Given the description of an element on the screen output the (x, y) to click on. 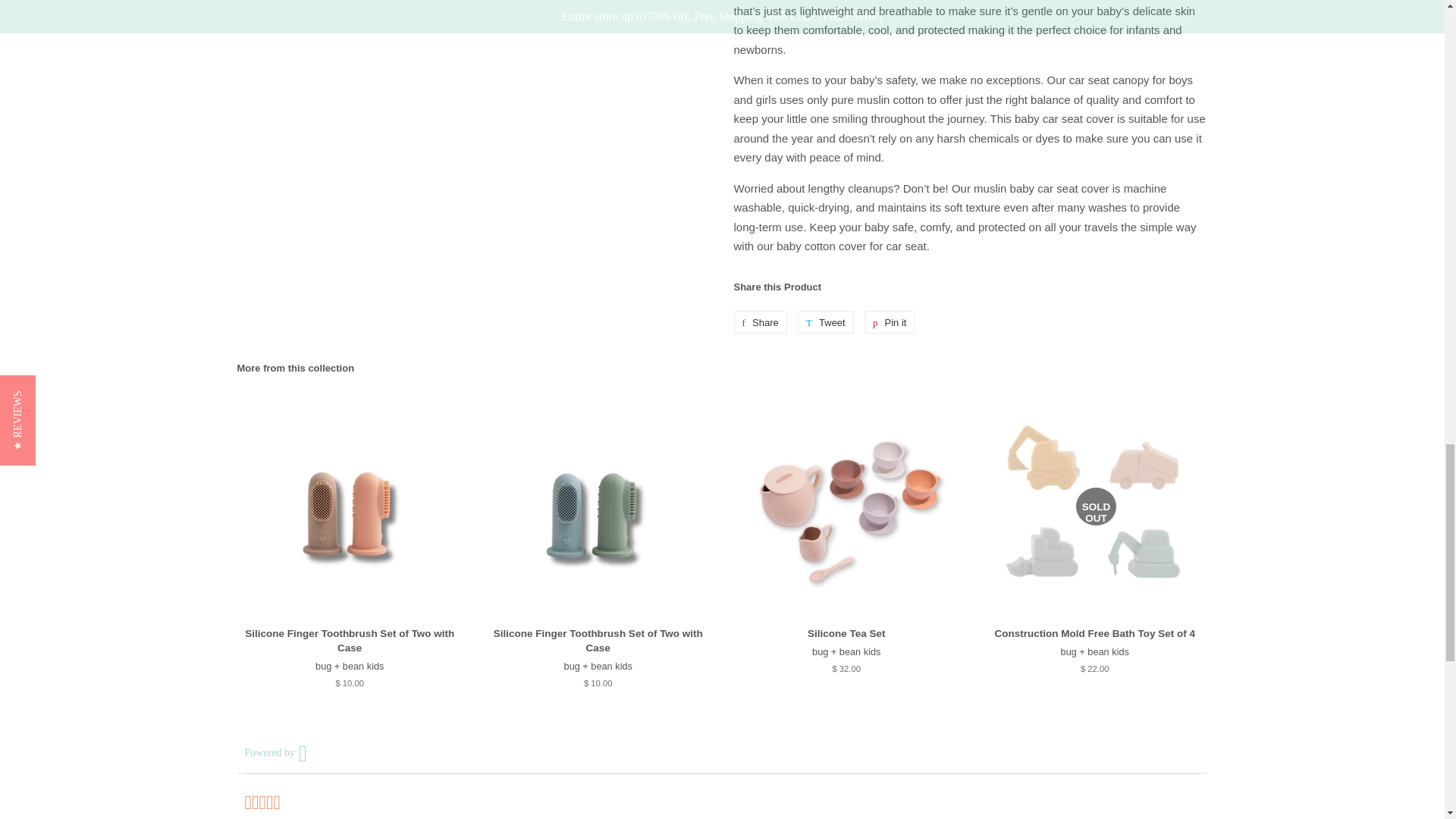
Tweet on Twitter (825, 322)
Share on Facebook (760, 322)
Pin on Pinterest (889, 322)
